Given the description of an element on the screen output the (x, y) to click on. 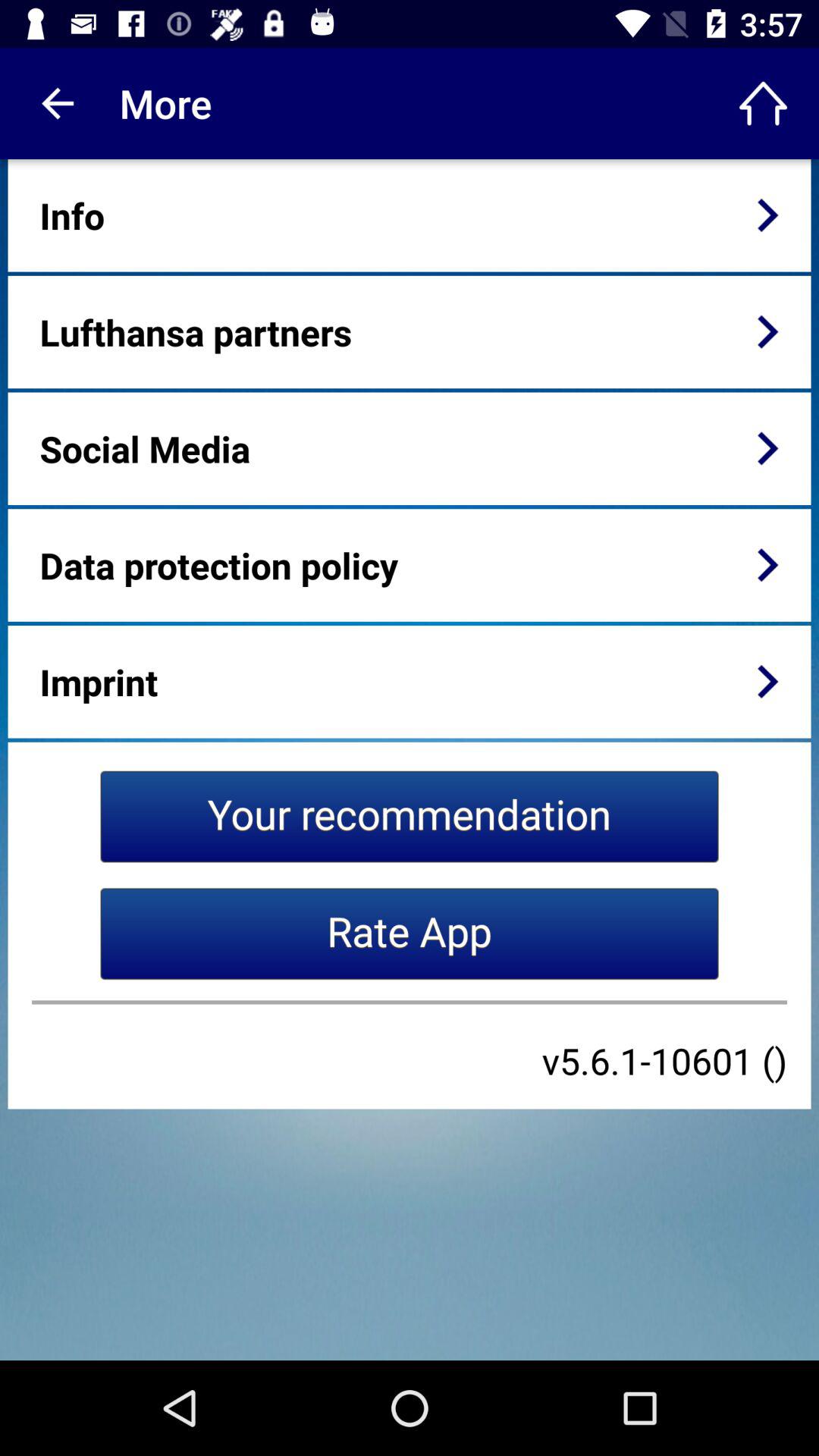
choose the lufthansa partners (195, 331)
